Given the description of an element on the screen output the (x, y) to click on. 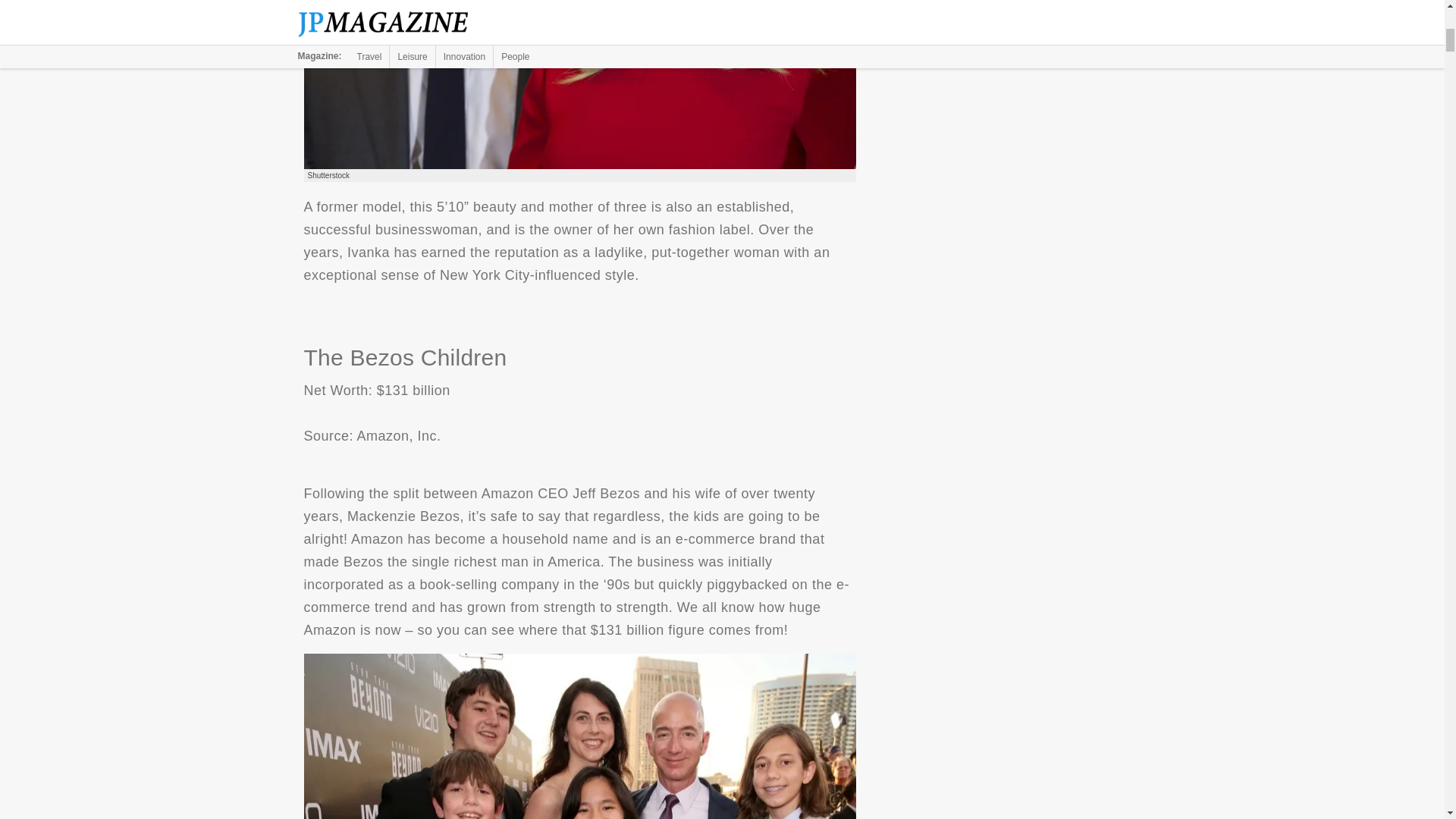
Ivanka Trump and Jared Kushner (579, 84)
The Bezos Children (579, 736)
